Given the description of an element on the screen output the (x, y) to click on. 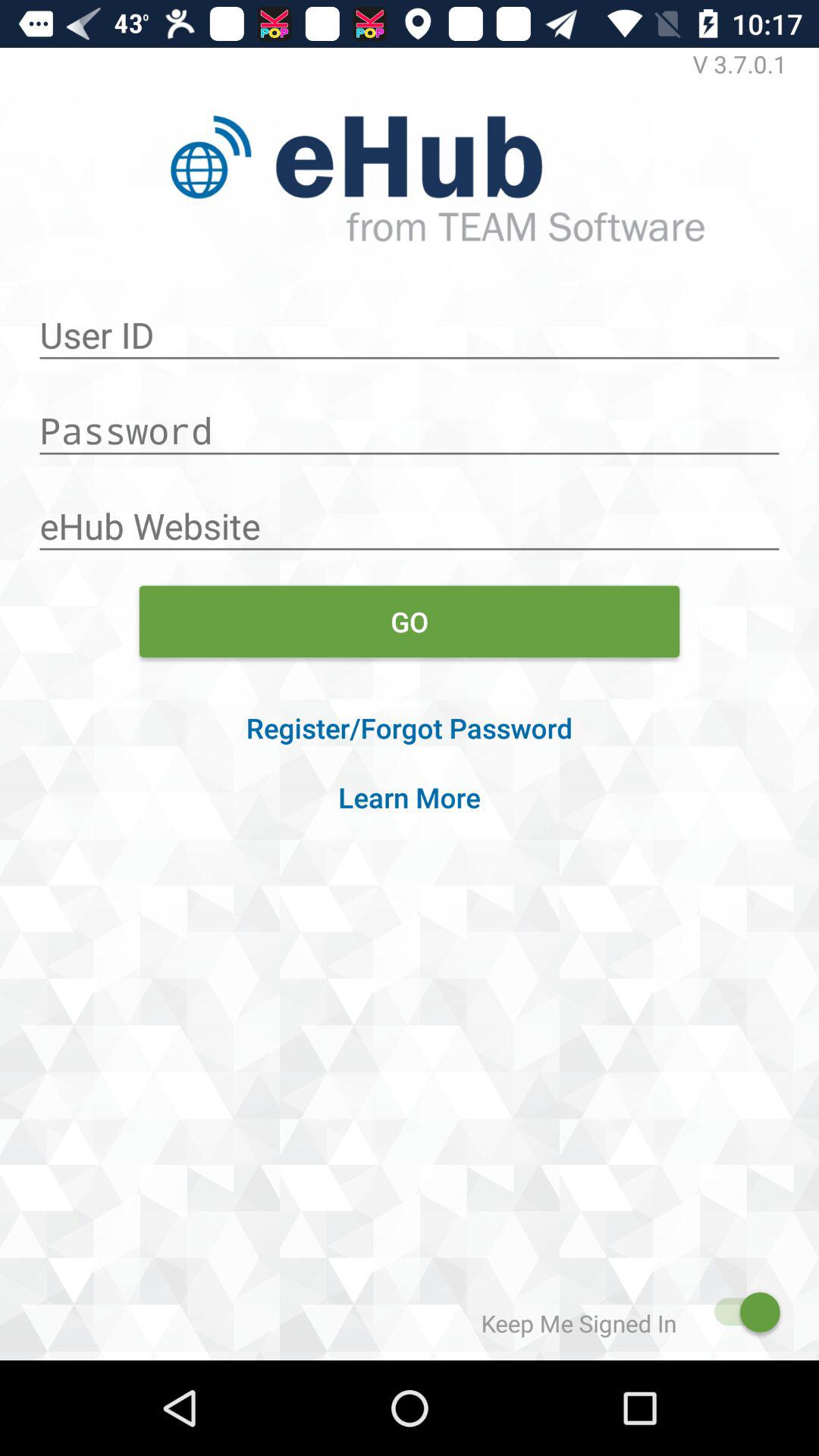
enter password (409, 422)
